Given the description of an element on the screen output the (x, y) to click on. 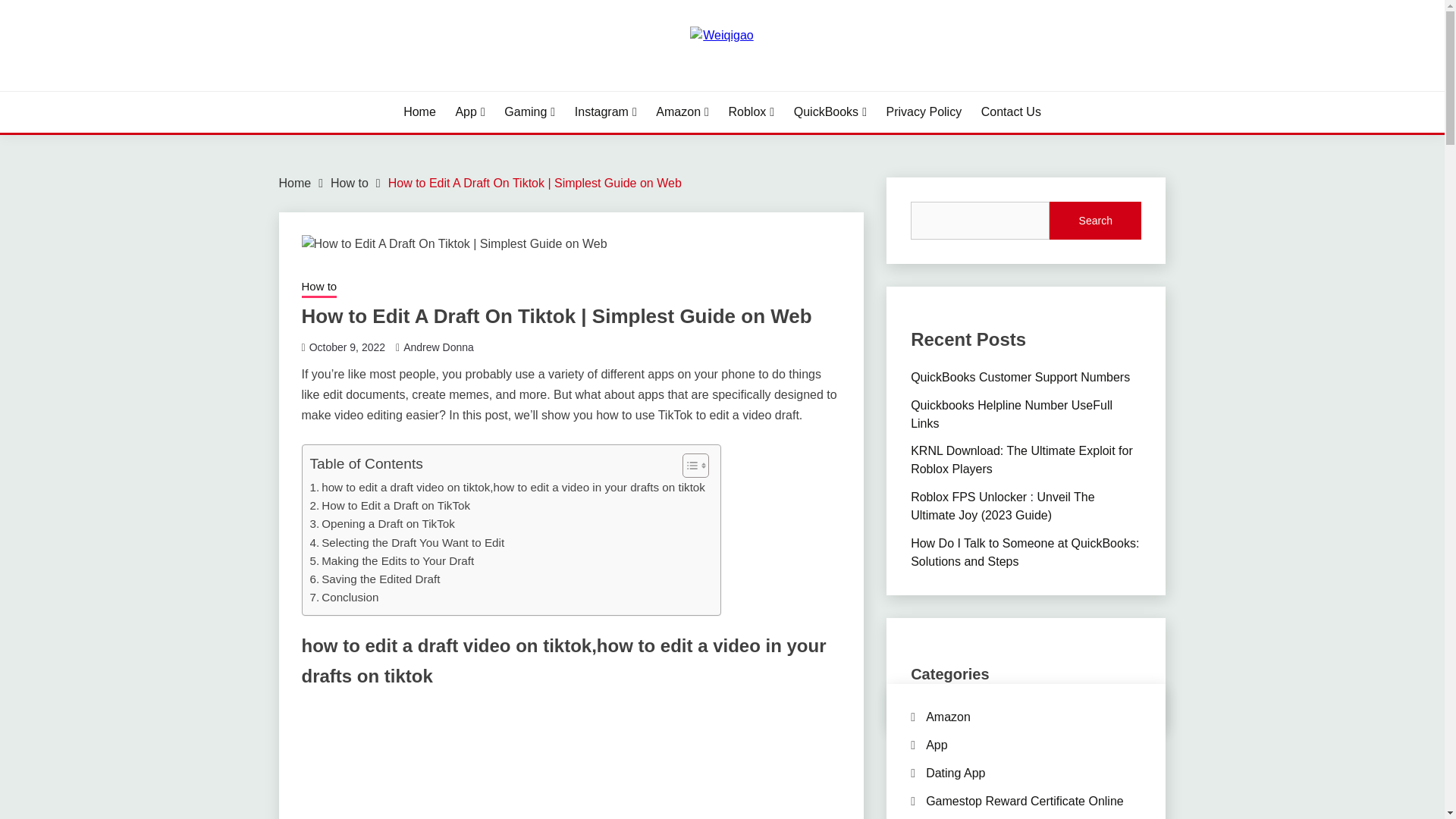
Privacy Policy (924, 112)
Making the Edits to Your Draft (381, 524)
Saving the Edited Draft (391, 561)
Contact Us (373, 579)
Andrew Donna (1011, 112)
QuickBooks (405, 542)
How to Edit a Draft on TikTok (438, 346)
